Given the description of an element on the screen output the (x, y) to click on. 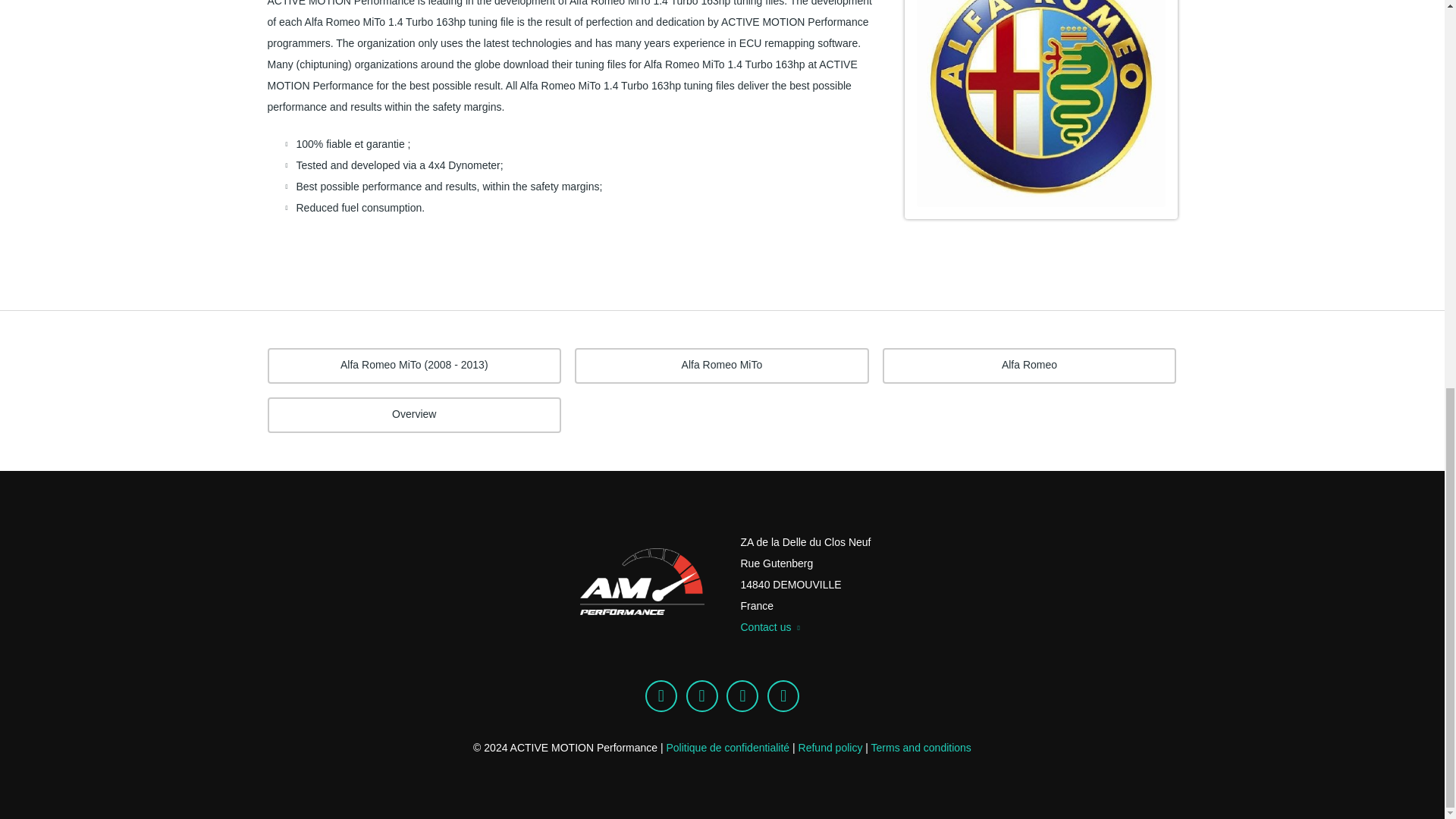
Skype (661, 695)
ACTIVE MOTION Performance (641, 584)
Contact us (769, 626)
YouTube (783, 695)
Refund policy (830, 747)
Terms and conditions (920, 747)
Alfa Romeo (1029, 366)
Facebook (701, 695)
Alfa Romeo MiTo (722, 366)
Contact us (769, 626)
Overview (413, 415)
Alfa Romeo (1029, 366)
Overview (413, 415)
Alfa Romeo MiTo (722, 366)
